Given the description of an element on the screen output the (x, y) to click on. 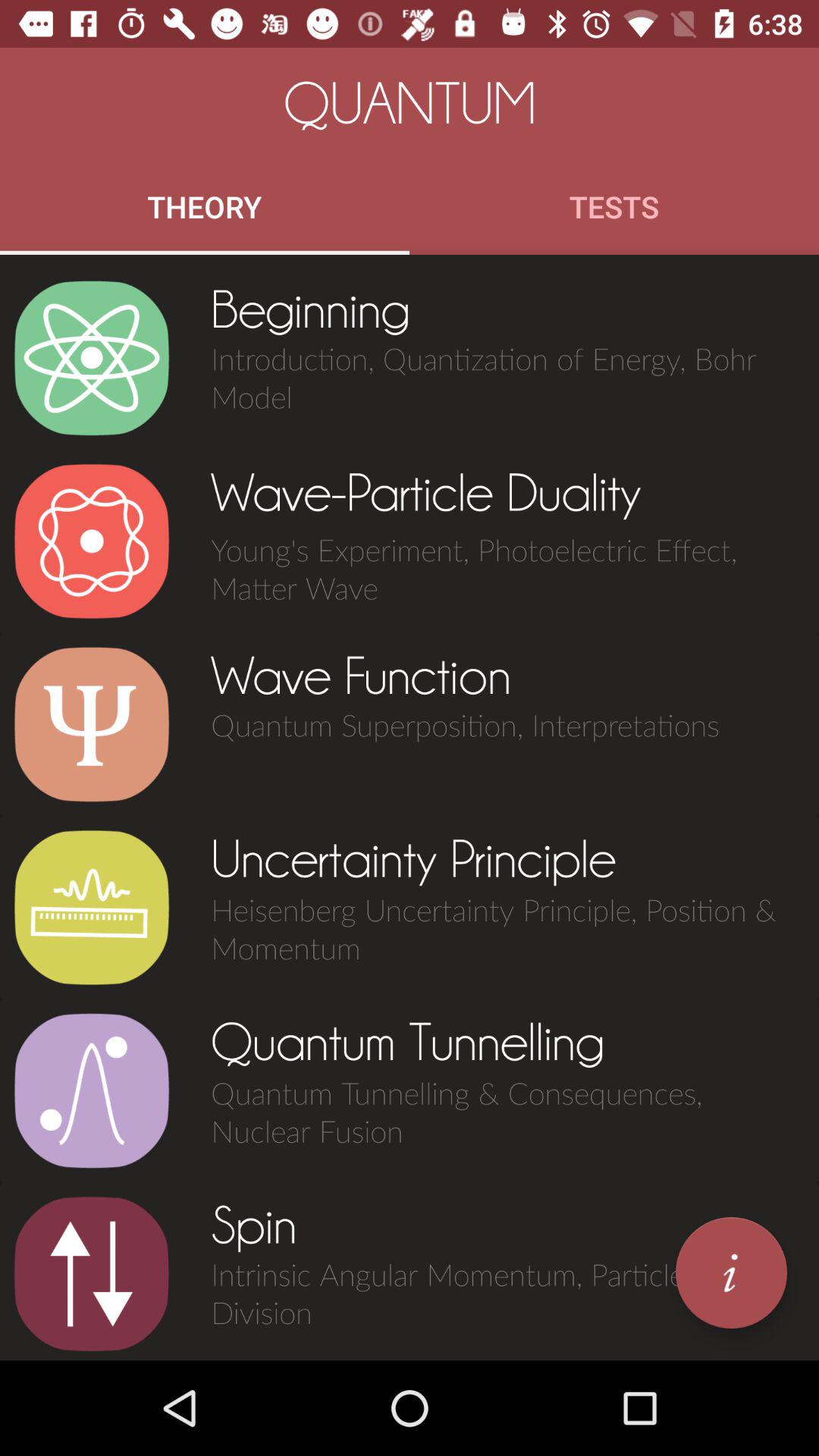
view spin profile (91, 1273)
